Given the description of an element on the screen output the (x, y) to click on. 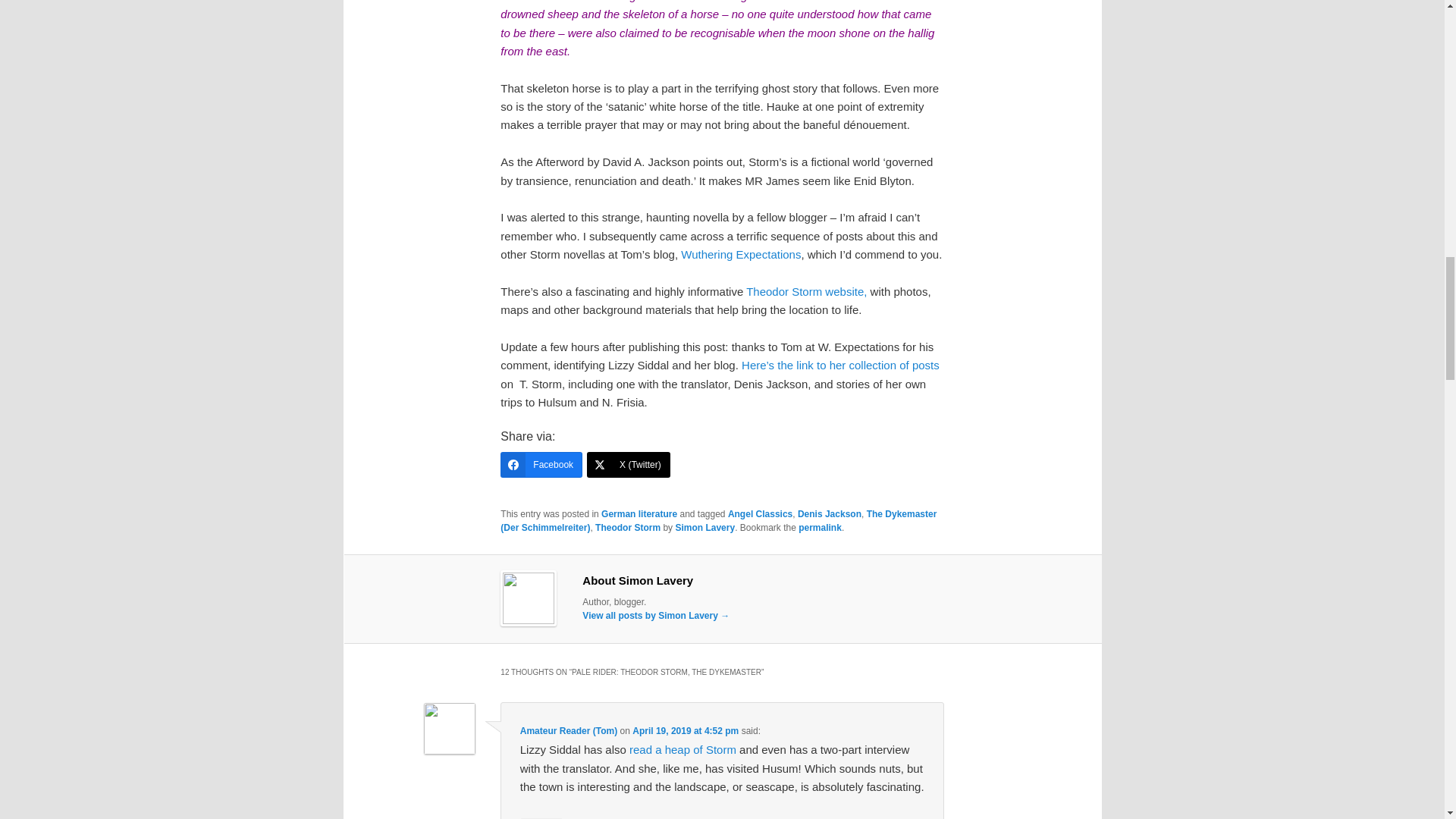
Theodor Storm website, (805, 291)
Theodor Storm (628, 527)
permalink (819, 527)
Permalink to Pale rider: Theodor Storm, The Dykemaster (819, 527)
April 19, 2019 at 4:52 pm (684, 730)
Denis Jackson (829, 513)
German literature (639, 513)
Simon Lavery (705, 527)
Angel Classics (760, 513)
read a heap of Storm (682, 748)
